Given the description of an element on the screen output the (x, y) to click on. 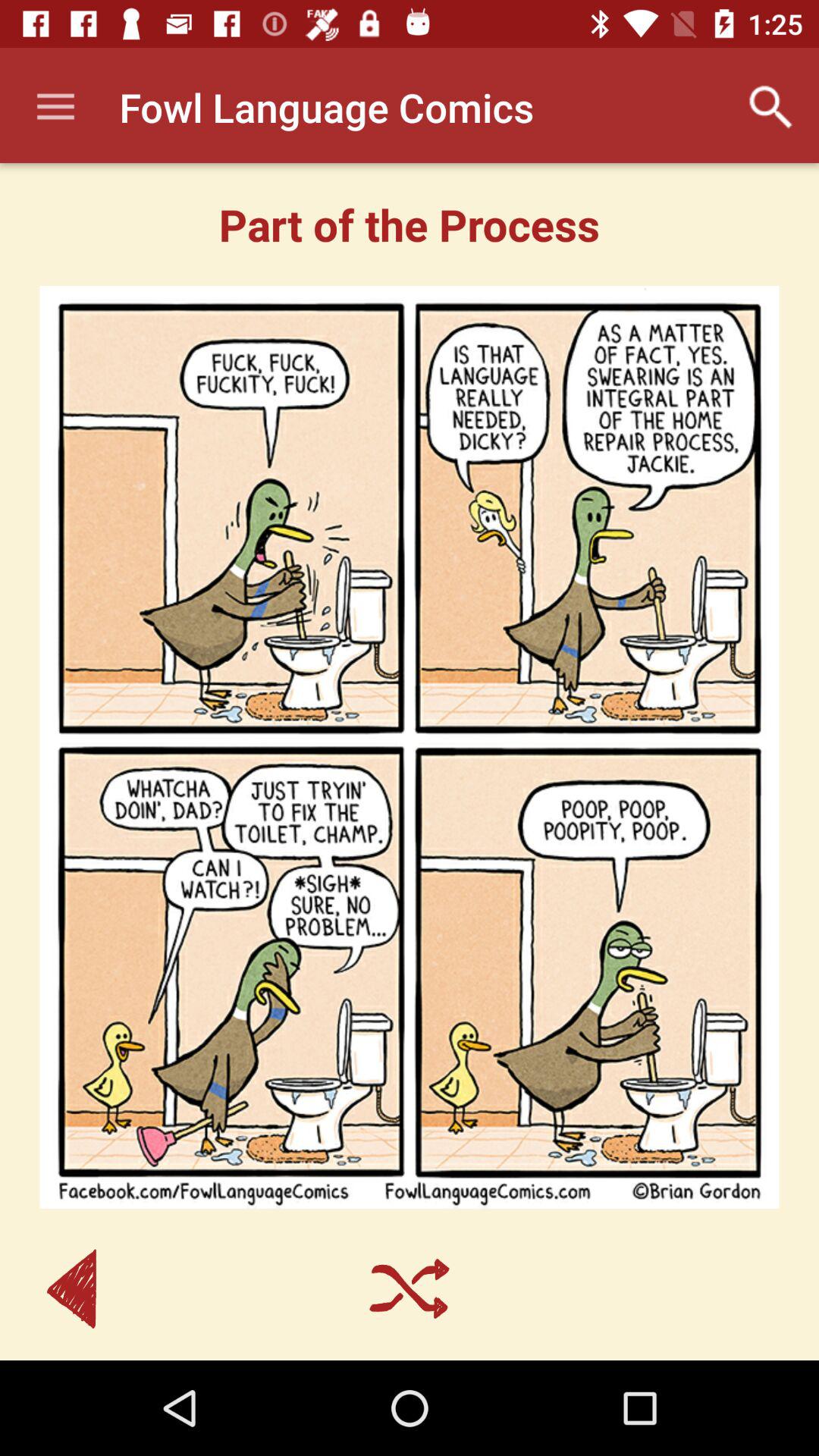
press icon at the top left corner (55, 107)
